Given the description of an element on the screen output the (x, y) to click on. 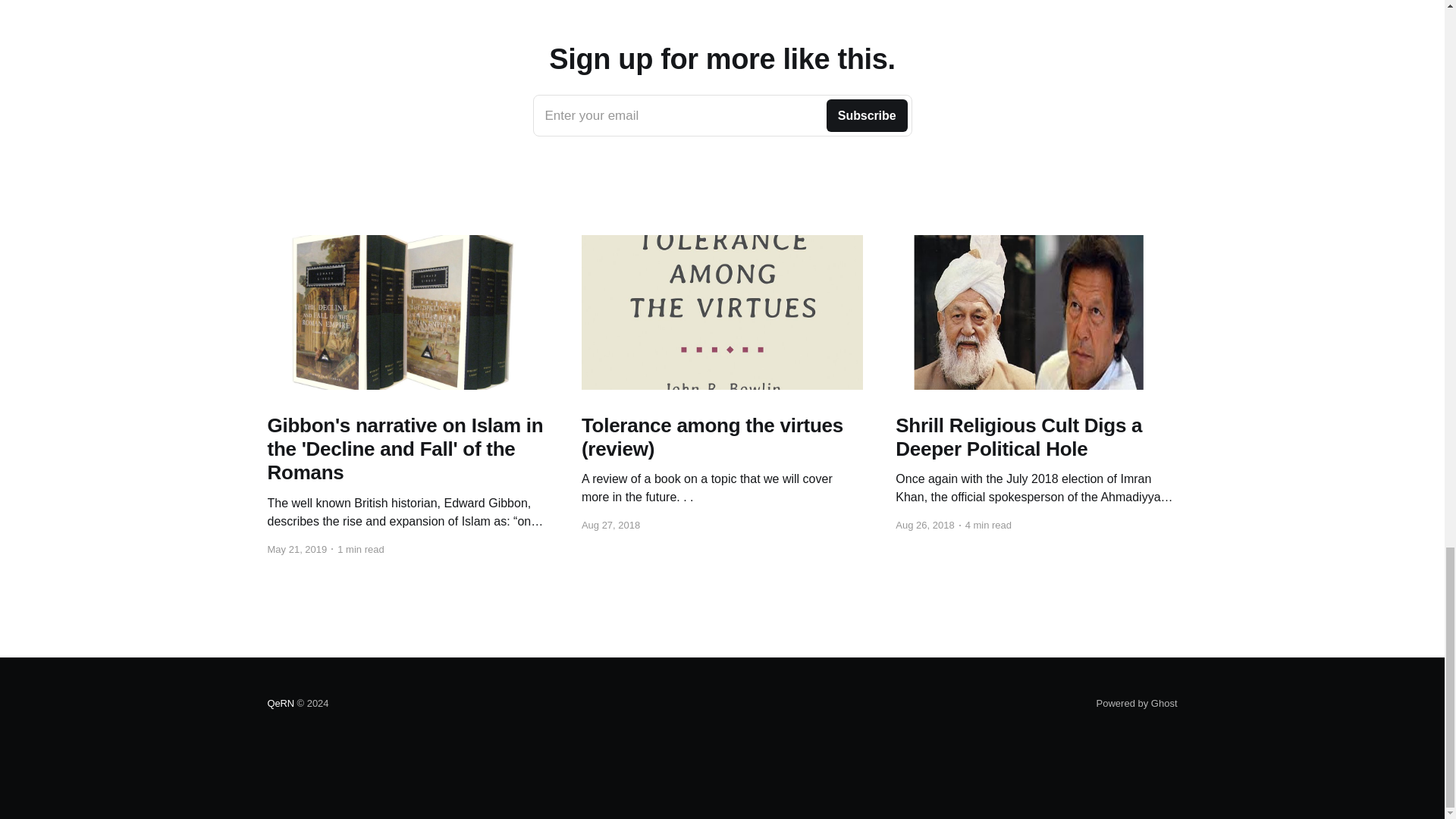
QeRN (280, 703)
Powered by Ghost (721, 116)
